Given the description of an element on the screen output the (x, y) to click on. 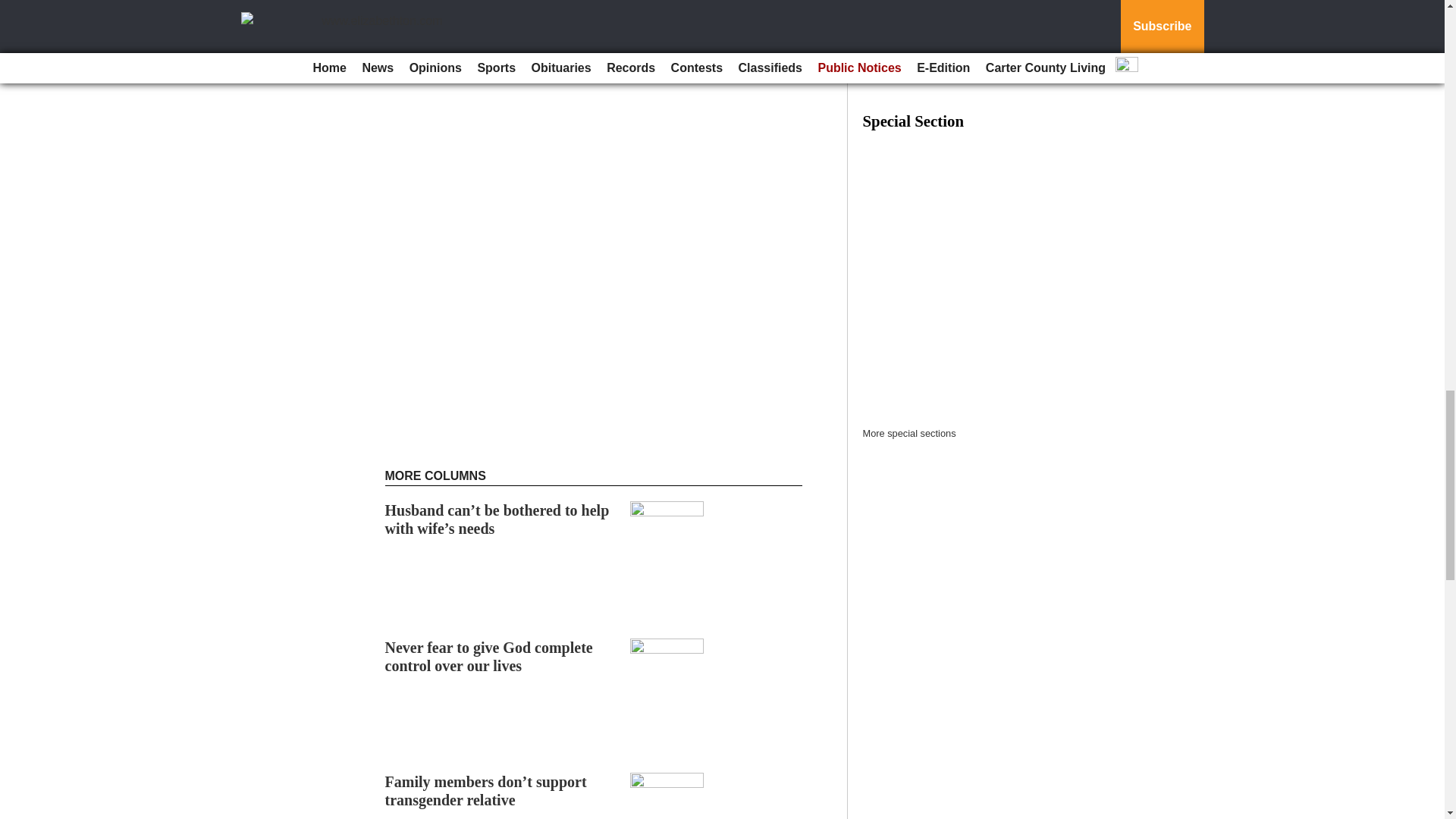
Never fear to give God complete control over our lives (488, 656)
Subscribe (434, 3)
Never fear to give God complete control over our lives (488, 656)
Subscribe (434, 3)
